Given the description of an element on the screen output the (x, y) to click on. 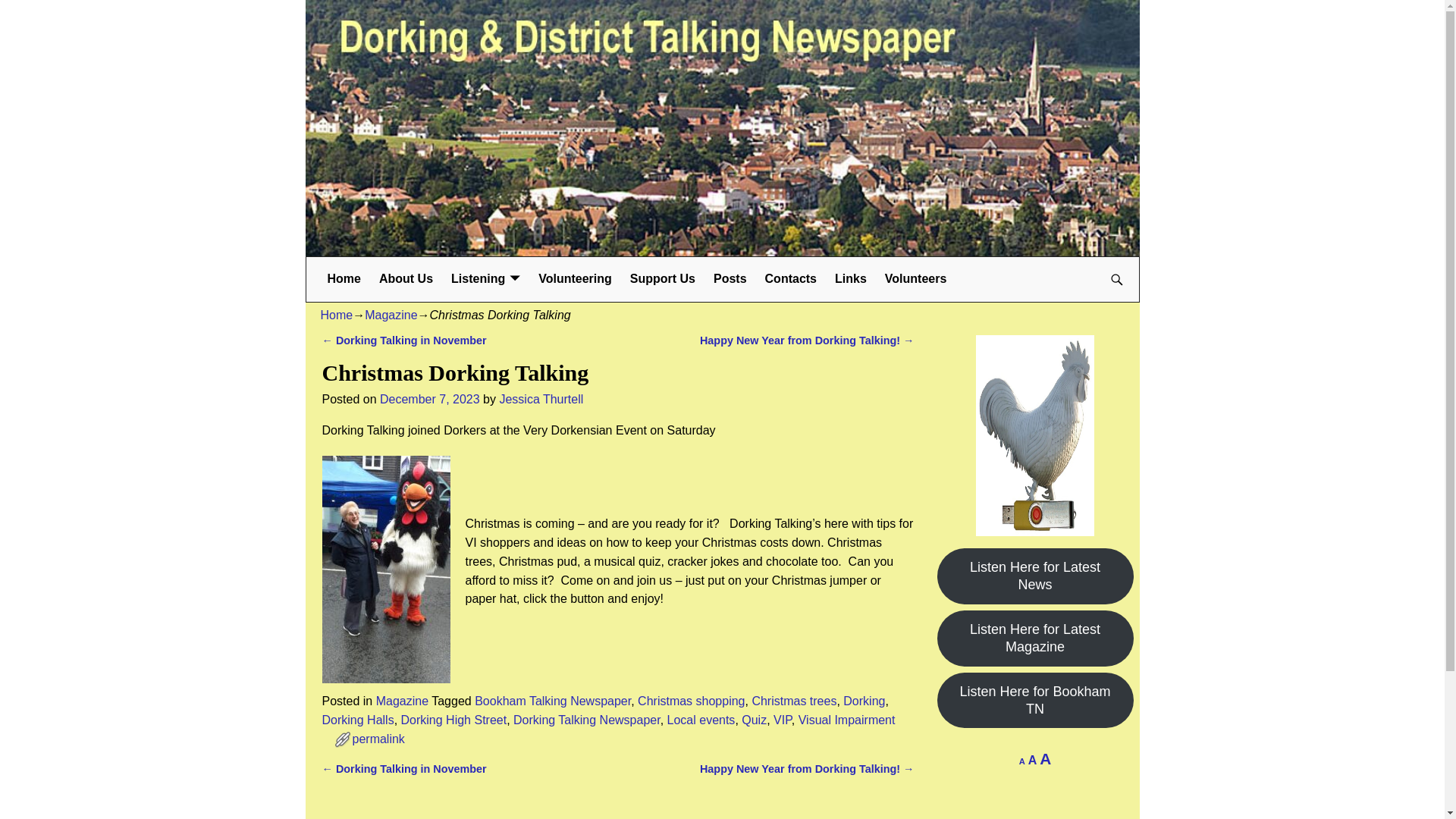
Magazine (401, 700)
Magazine (390, 314)
Dorking High Street (453, 719)
Volunteers (916, 279)
View all posts by Jessica Thurtell (541, 399)
Dorking Halls (357, 719)
Dorking (864, 700)
Posts (729, 279)
Support Us (662, 279)
Contacts (790, 279)
Home (336, 314)
About Us (405, 279)
December 7, 2023 (430, 399)
Listening (485, 279)
Christmas shopping (690, 700)
